Given the description of an element on the screen output the (x, y) to click on. 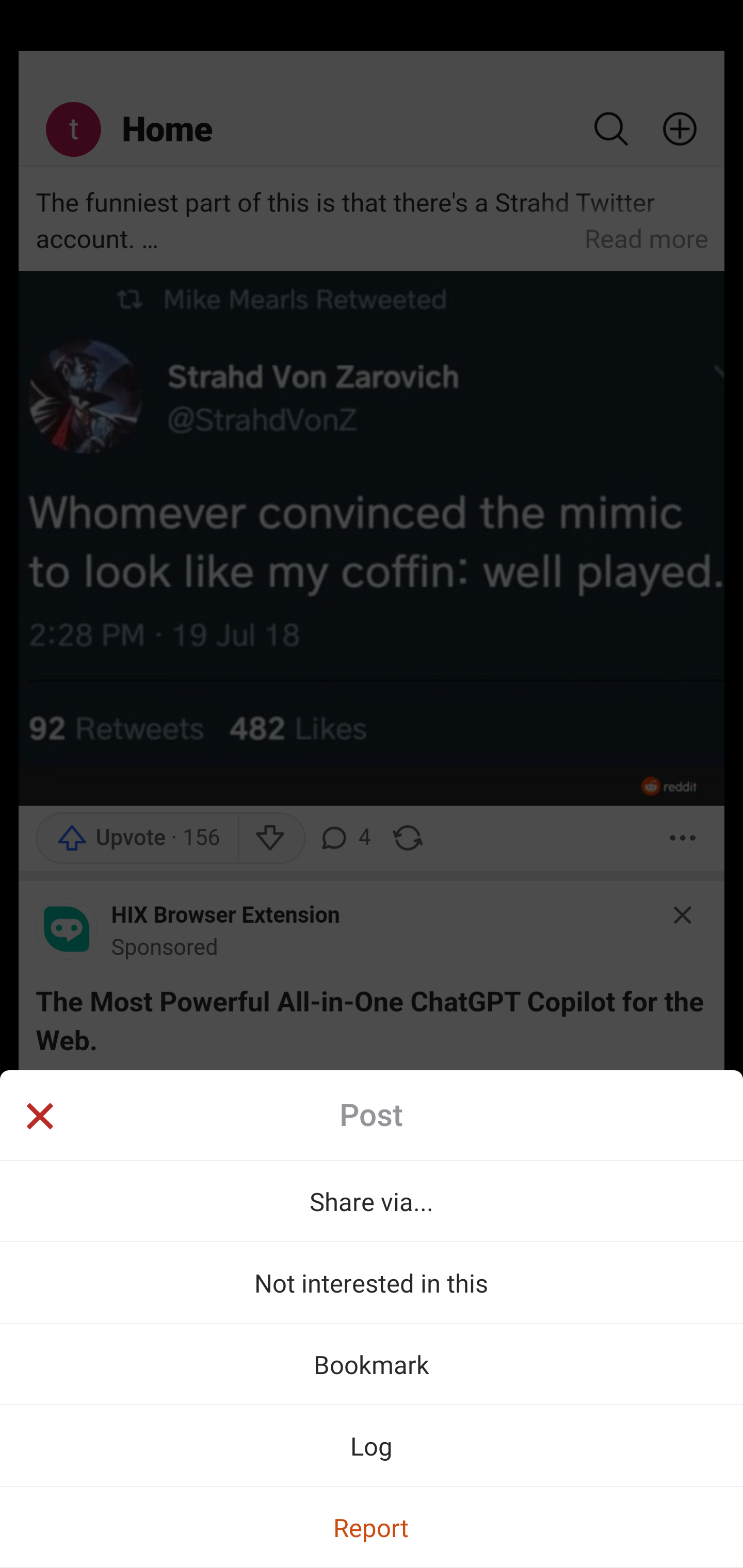
 Post (371, 1115)
 (39, 1117)
Share via... (371, 1200)
Not interested in this (371, 1282)
Bookmark (371, 1363)
Log (371, 1445)
Report (371, 1527)
